Given the description of an element on the screen output the (x, y) to click on. 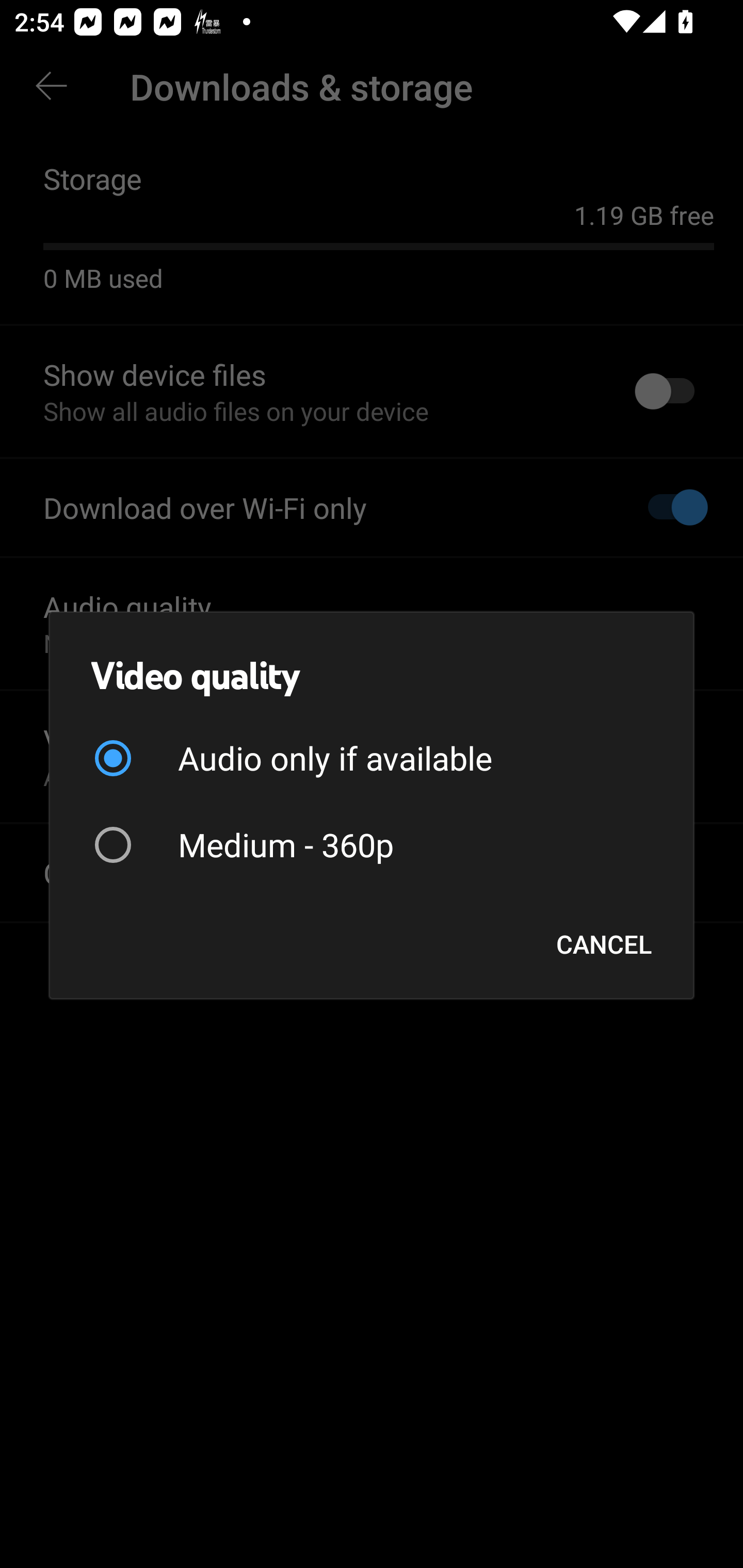
Audio only if available (371, 758)
Medium - 360p (371, 844)
CANCEL (603, 943)
